Given the description of an element on the screen output the (x, y) to click on. 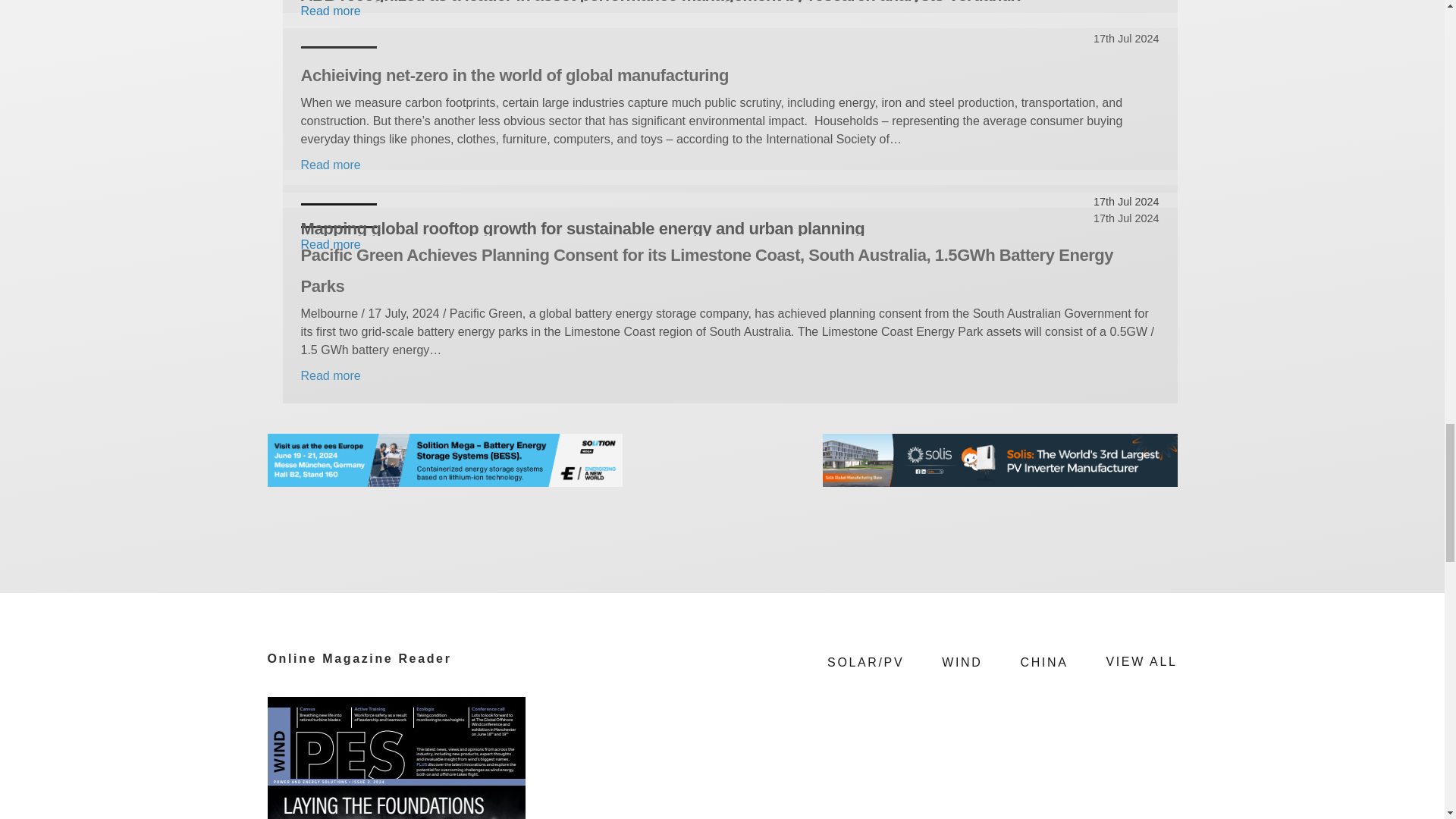
Achieiving net-zero in the world of global manufacturing (728, 74)
